Given the description of an element on the screen output the (x, y) to click on. 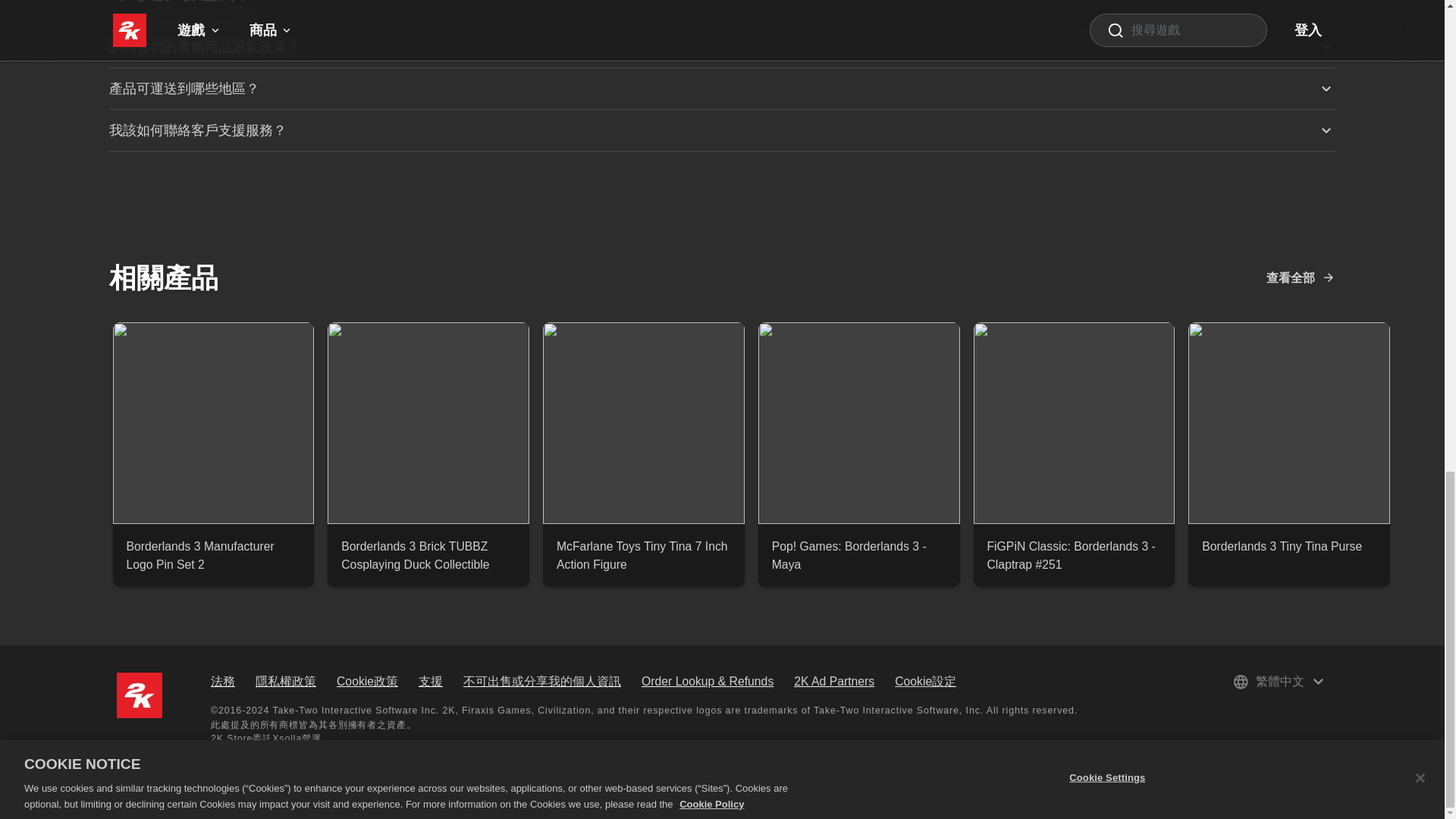
2K Ad Partners (834, 681)
McFarlane Toys Tiny Tina 7 Inch Action Figure (643, 555)
Borderlands 3 Tiny Tina Purse (1288, 546)
Pop! Games: Borderlands 3 - Maya (858, 555)
Borderlands 3 Brick TUBBZ Cosplaying Duck Collectible (427, 555)
Borderlands 3 Manufacturer Logo Pin Set 2 (212, 555)
